Given the description of an element on the screen output the (x, y) to click on. 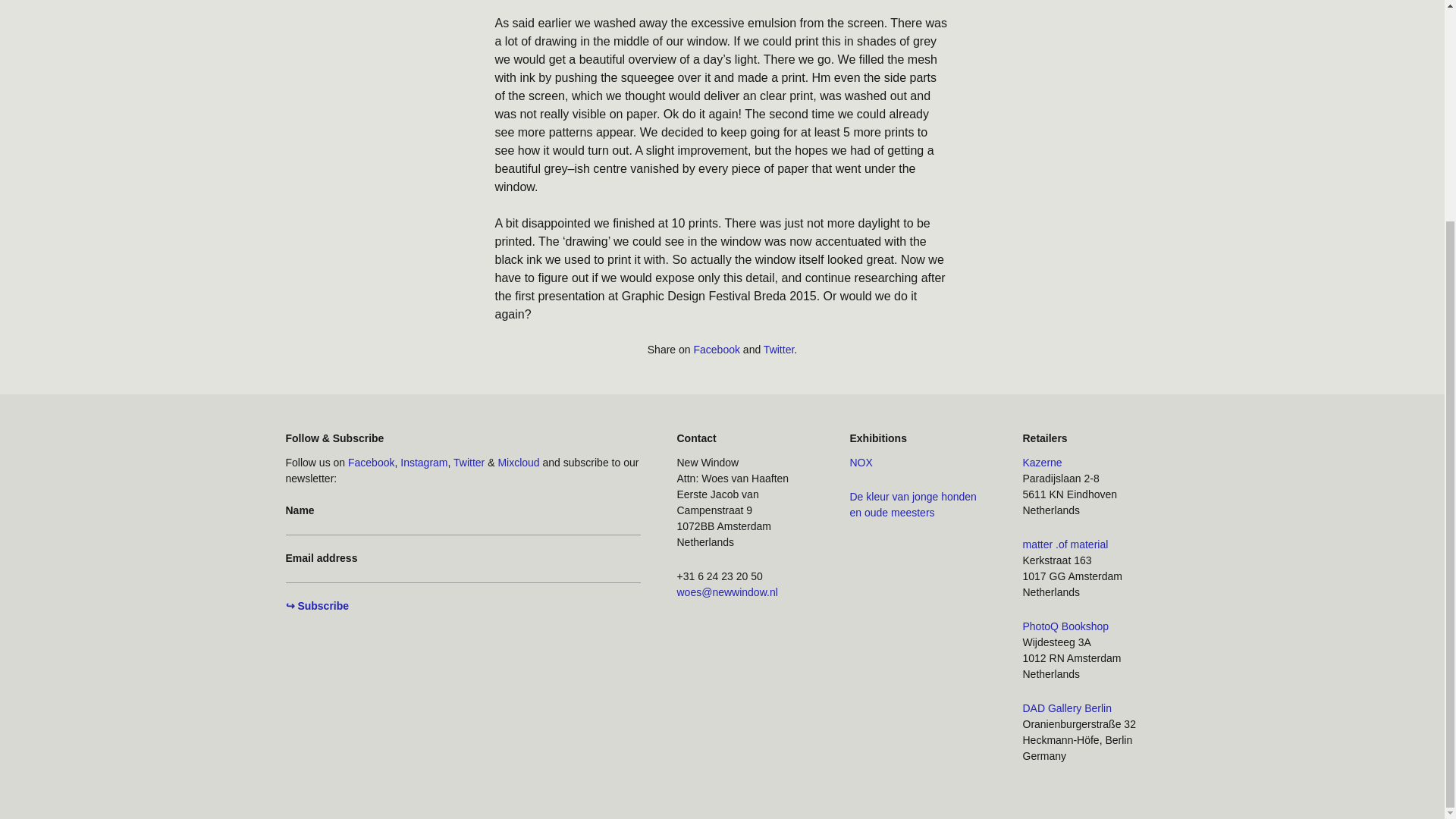
NOX (860, 461)
De kleur van jonge honden en oude meesters (911, 504)
matter .of material (1065, 543)
Twitter (777, 349)
Twitter (468, 461)
Mixcloud (517, 461)
Instagram (423, 461)
PhotoQ Bookshop (1065, 625)
Facebook (370, 461)
Facebook (716, 349)
DAD Gallery Berlin (1066, 707)
Kazerne (1041, 461)
